Given the description of an element on the screen output the (x, y) to click on. 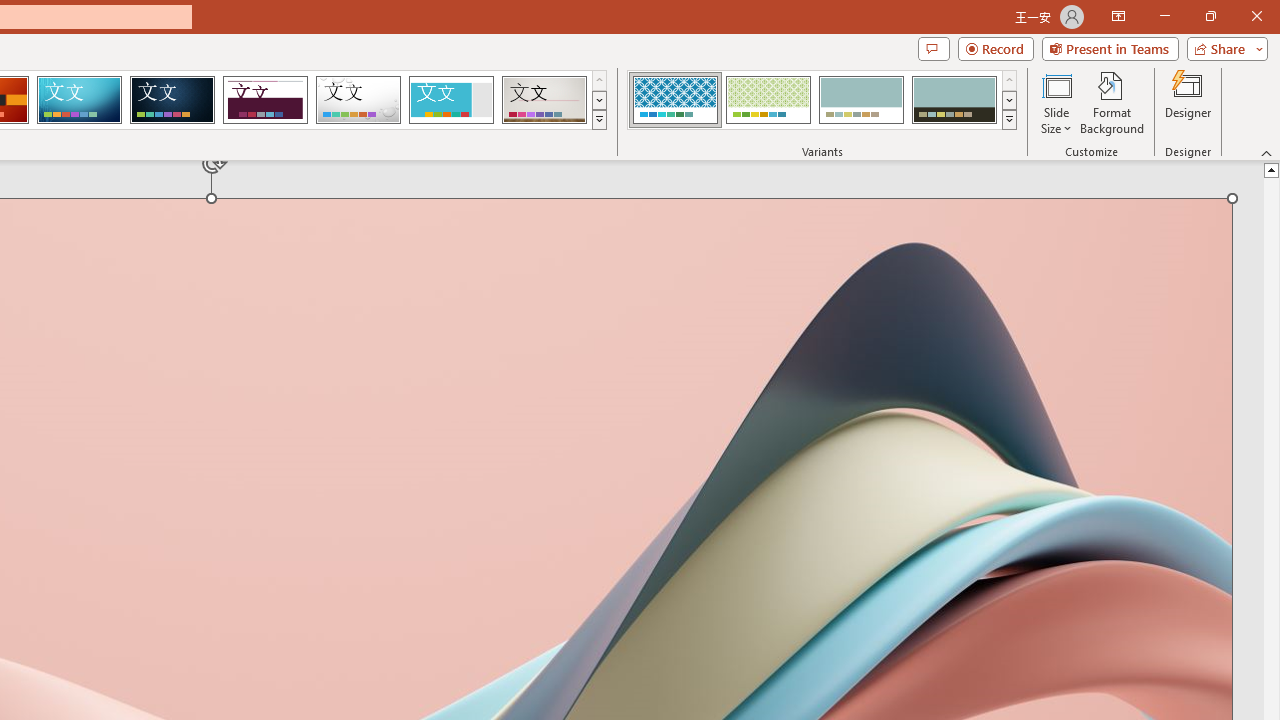
Integral Variant 1 (674, 100)
Circuit (79, 100)
Droplet (358, 100)
Integral Variant 4 (953, 100)
Row up (1009, 79)
Format Background (1111, 102)
Variants (1009, 120)
Class: NetUIImage (1009, 119)
Frame (450, 100)
Row Down (1009, 100)
